Given the description of an element on the screen output the (x, y) to click on. 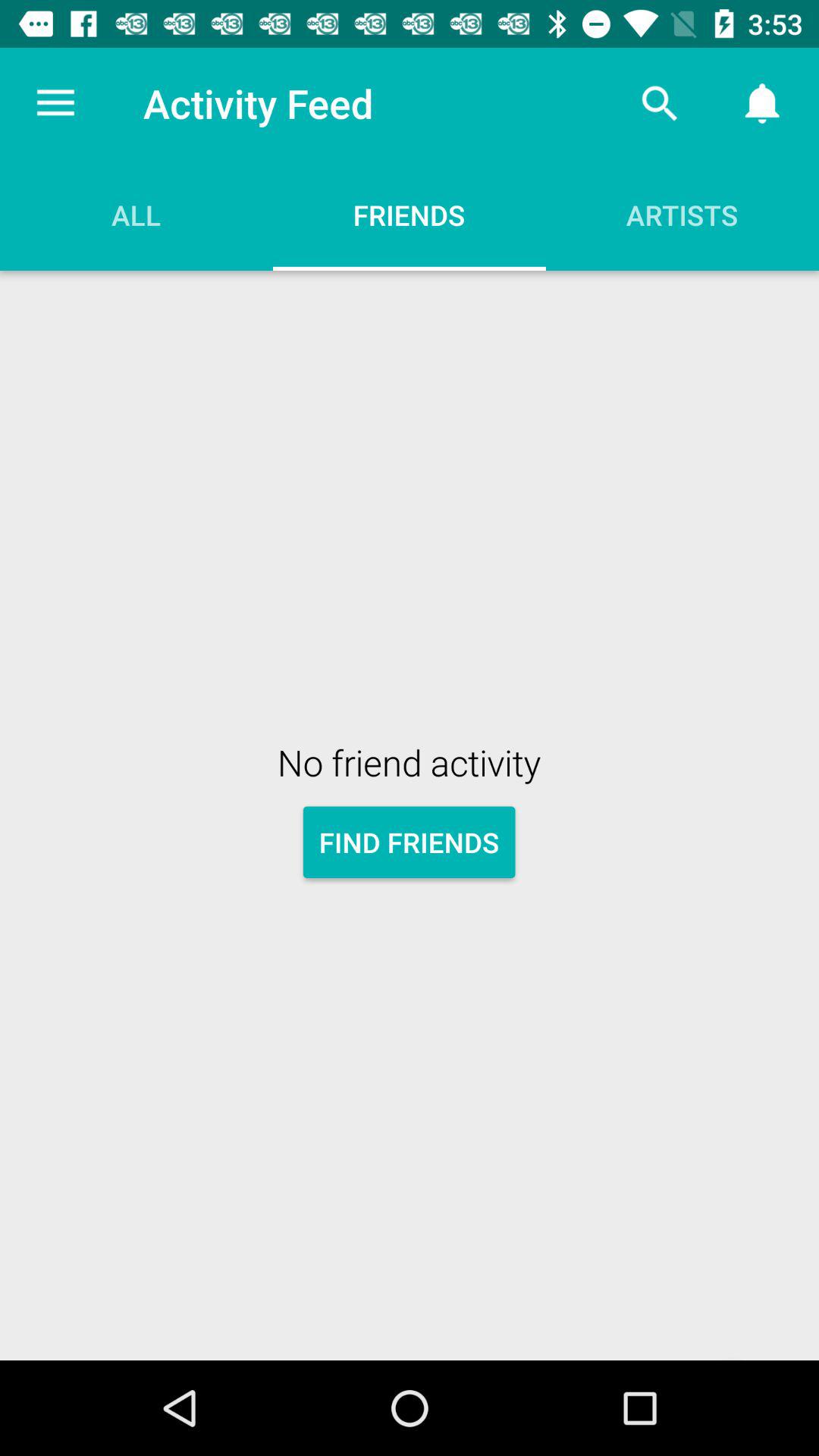
turn on icon to the left of activity feed item (55, 103)
